Given the description of an element on the screen output the (x, y) to click on. 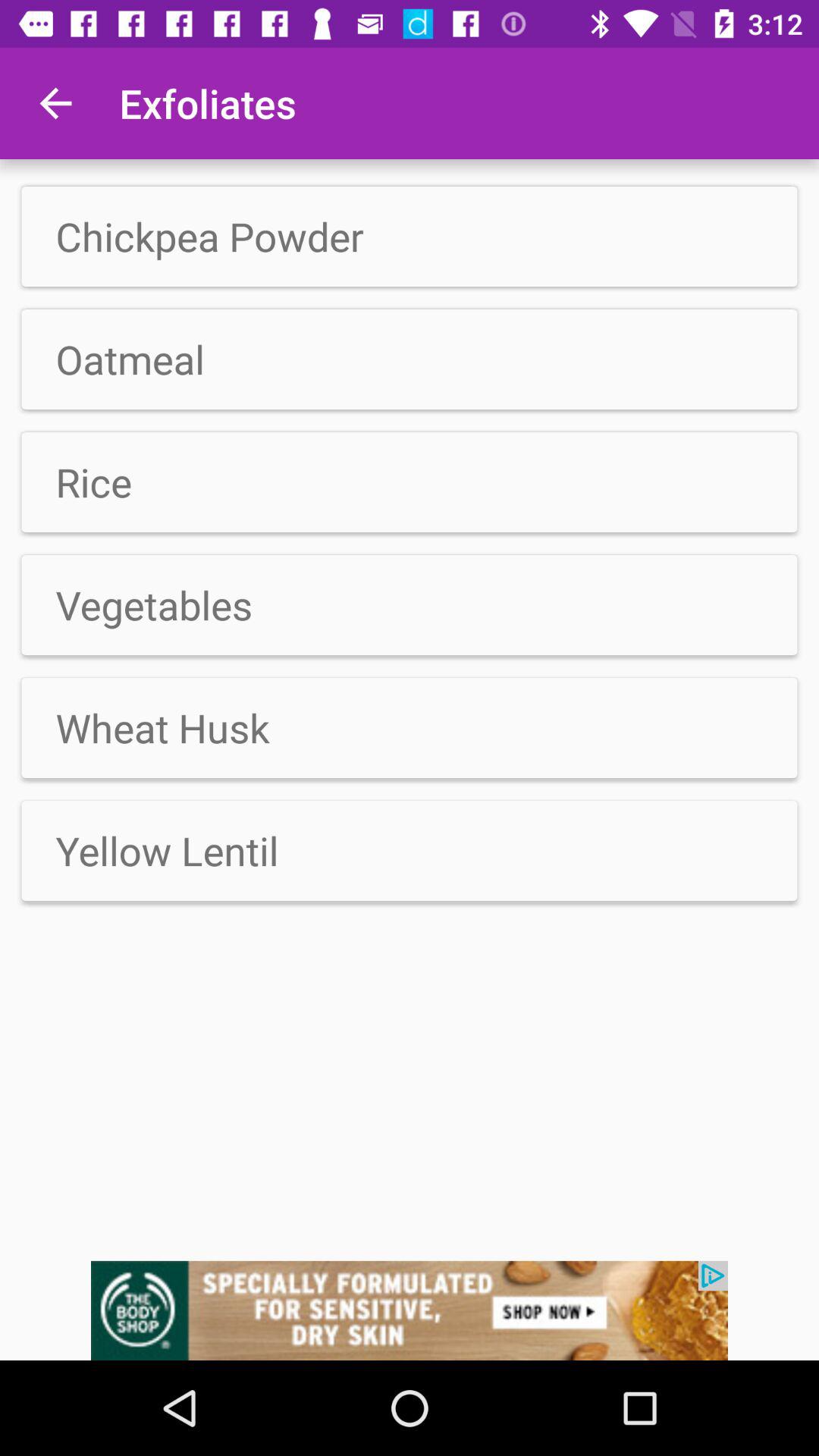
advertising pop up banner (409, 1310)
